Given the description of an element on the screen output the (x, y) to click on. 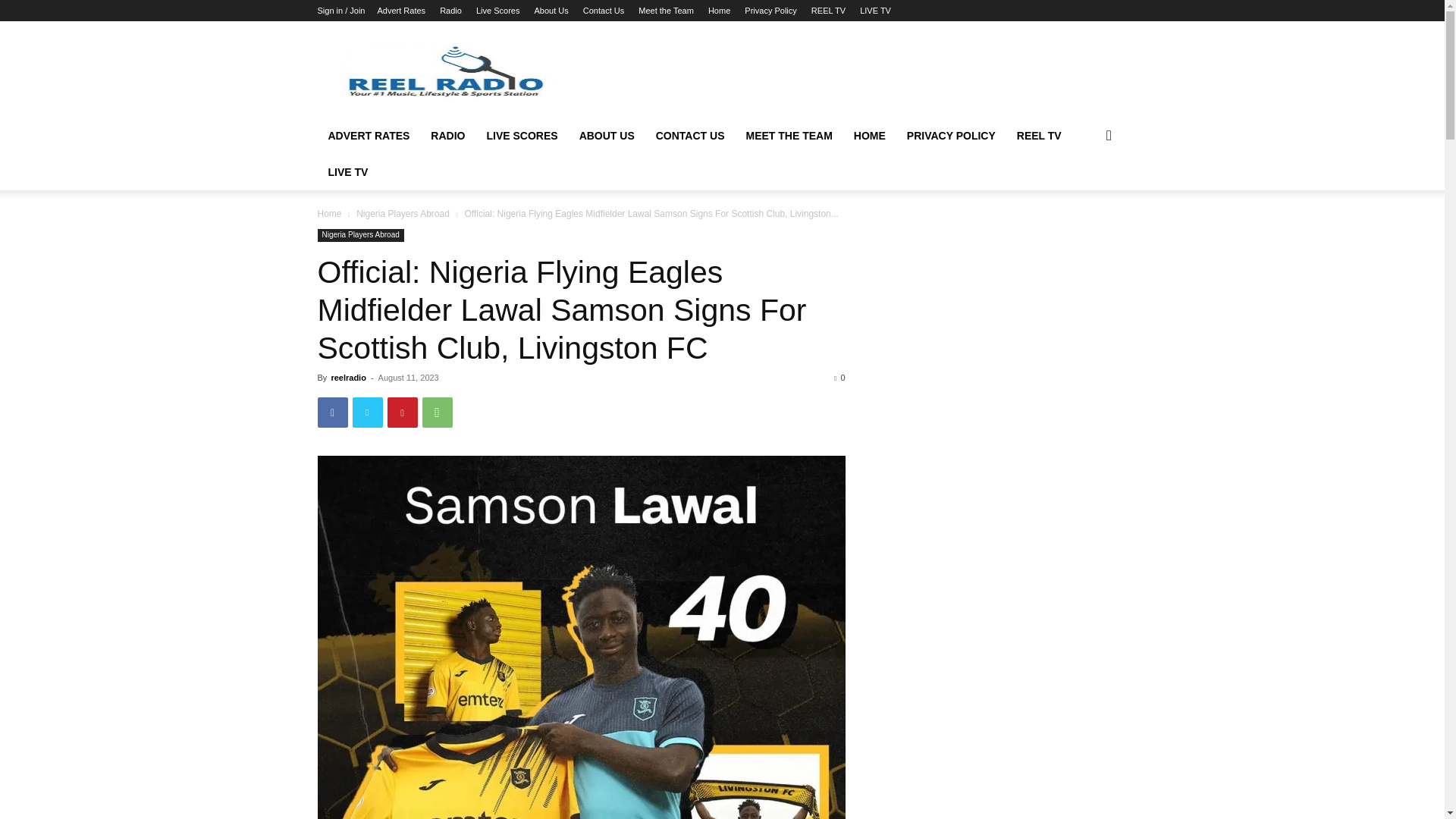
Radio (450, 10)
LIVE TV (875, 10)
HOME (869, 135)
CONTACT US (690, 135)
ADVERT RATES (368, 135)
RADIO (448, 135)
Advert Rates (401, 10)
About Us (550, 10)
Meet the Team (666, 10)
Home (718, 10)
Facebook (332, 412)
REEL TV (827, 10)
Pinterest (401, 412)
LIVE SCORES (521, 135)
Live Scores (497, 10)
